Given the description of an element on the screen output the (x, y) to click on. 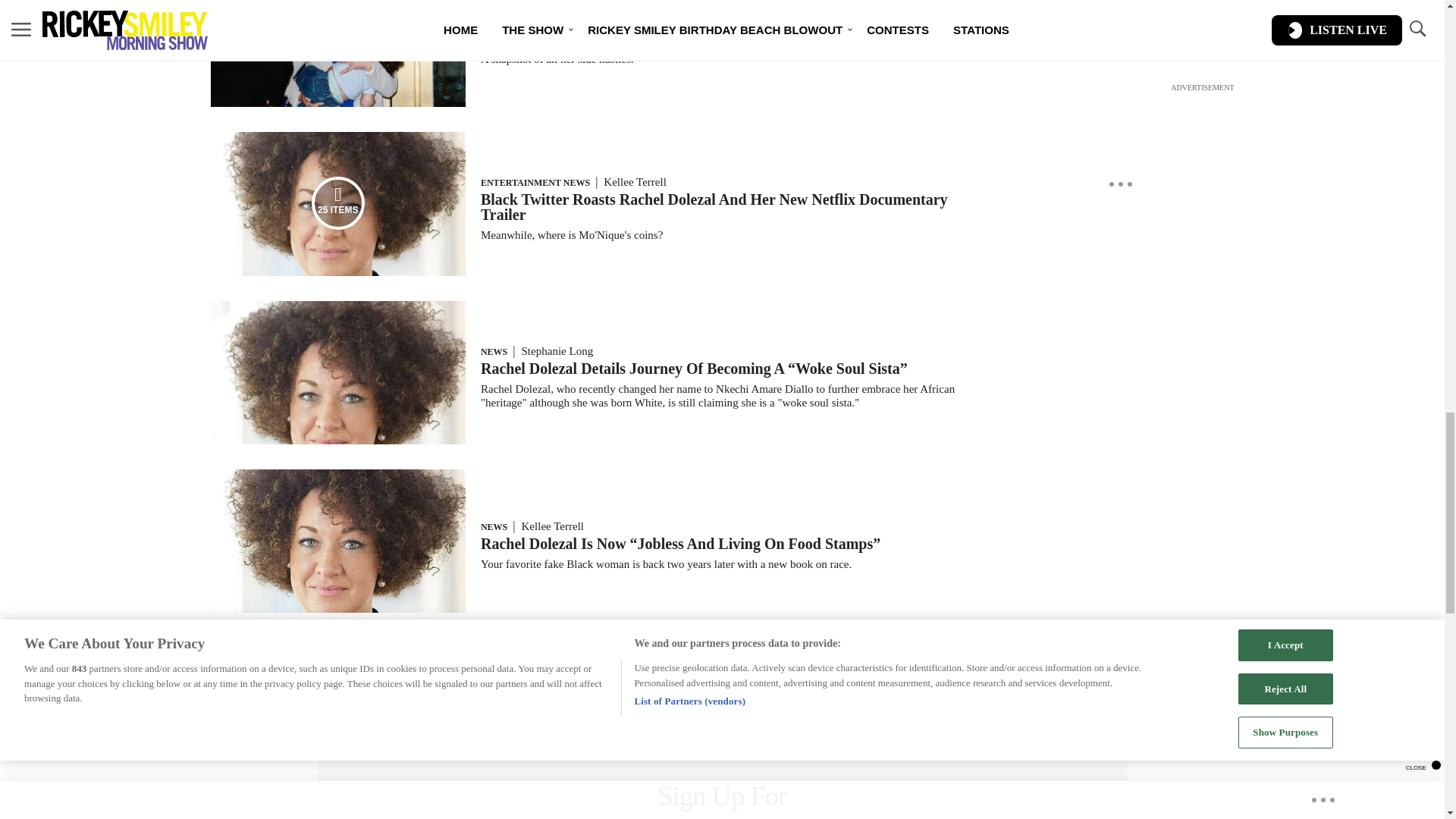
Media Playlist (338, 203)
